Given the description of an element on the screen output the (x, y) to click on. 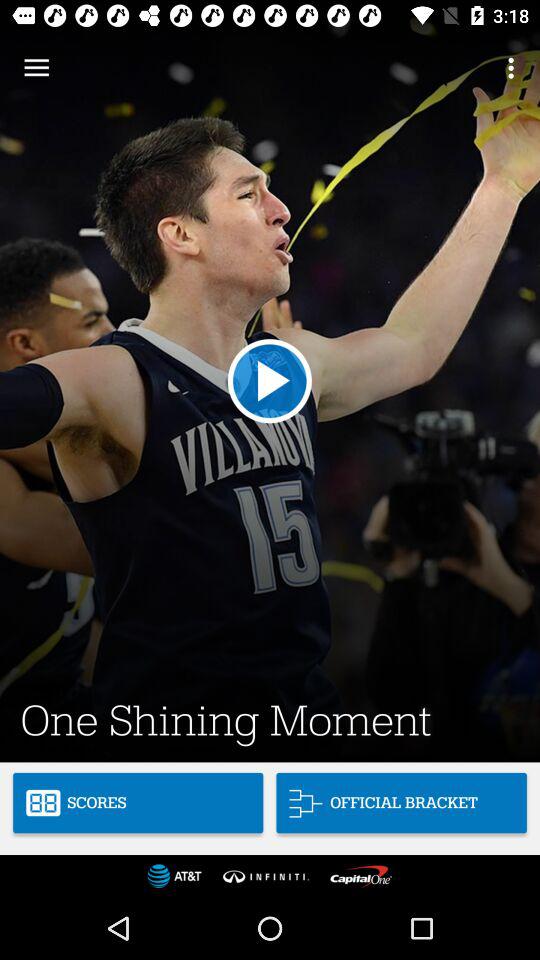
press the item to the left of official bracket icon (138, 802)
